Given the description of an element on the screen output the (x, y) to click on. 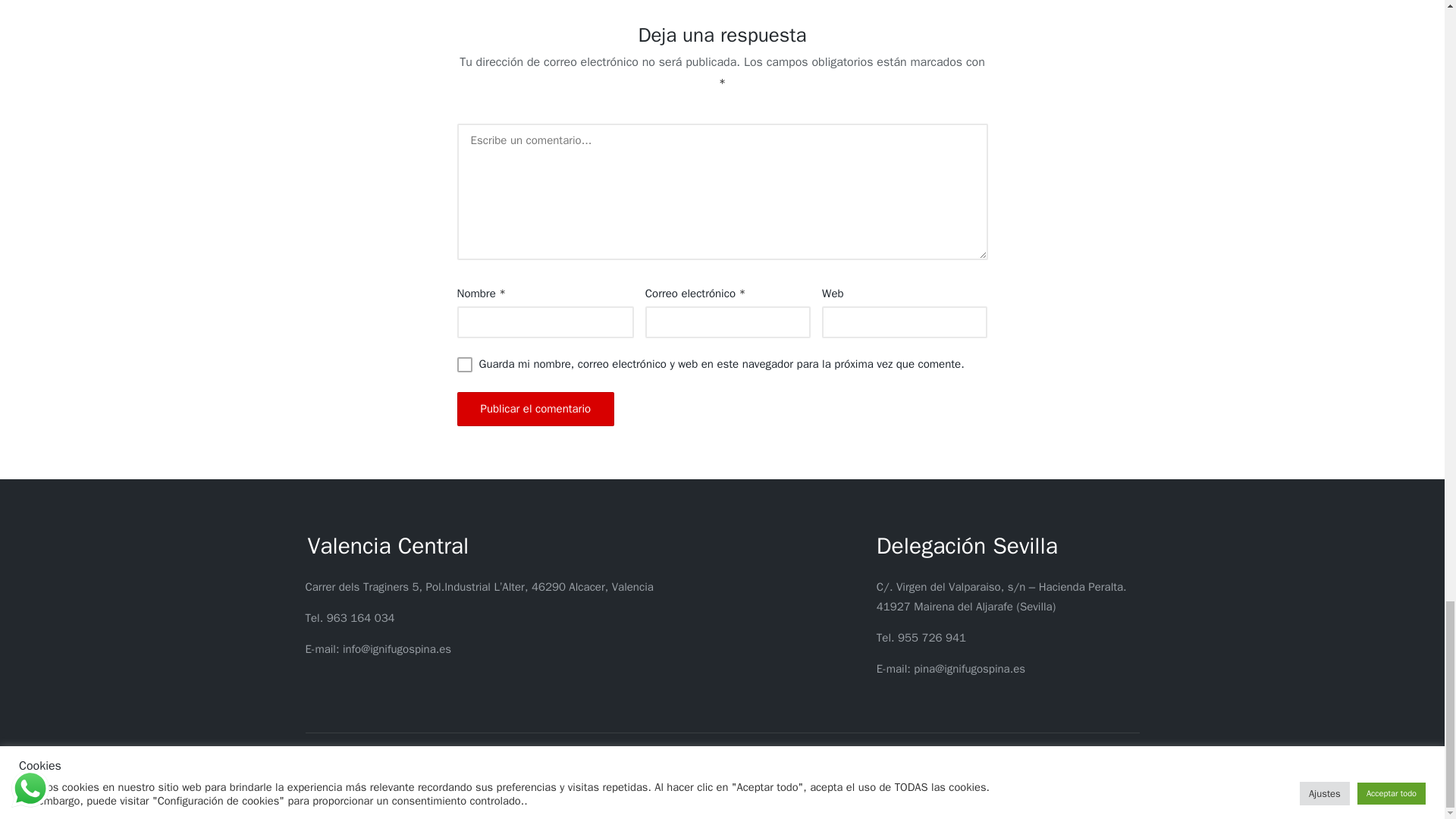
955 726 941 (932, 637)
Politica privacidad y Condiciones legales (660, 790)
Publicar el comentario (535, 408)
Publicar el comentario (535, 408)
yes (464, 364)
963 164 034 (360, 617)
